Given the description of an element on the screen output the (x, y) to click on. 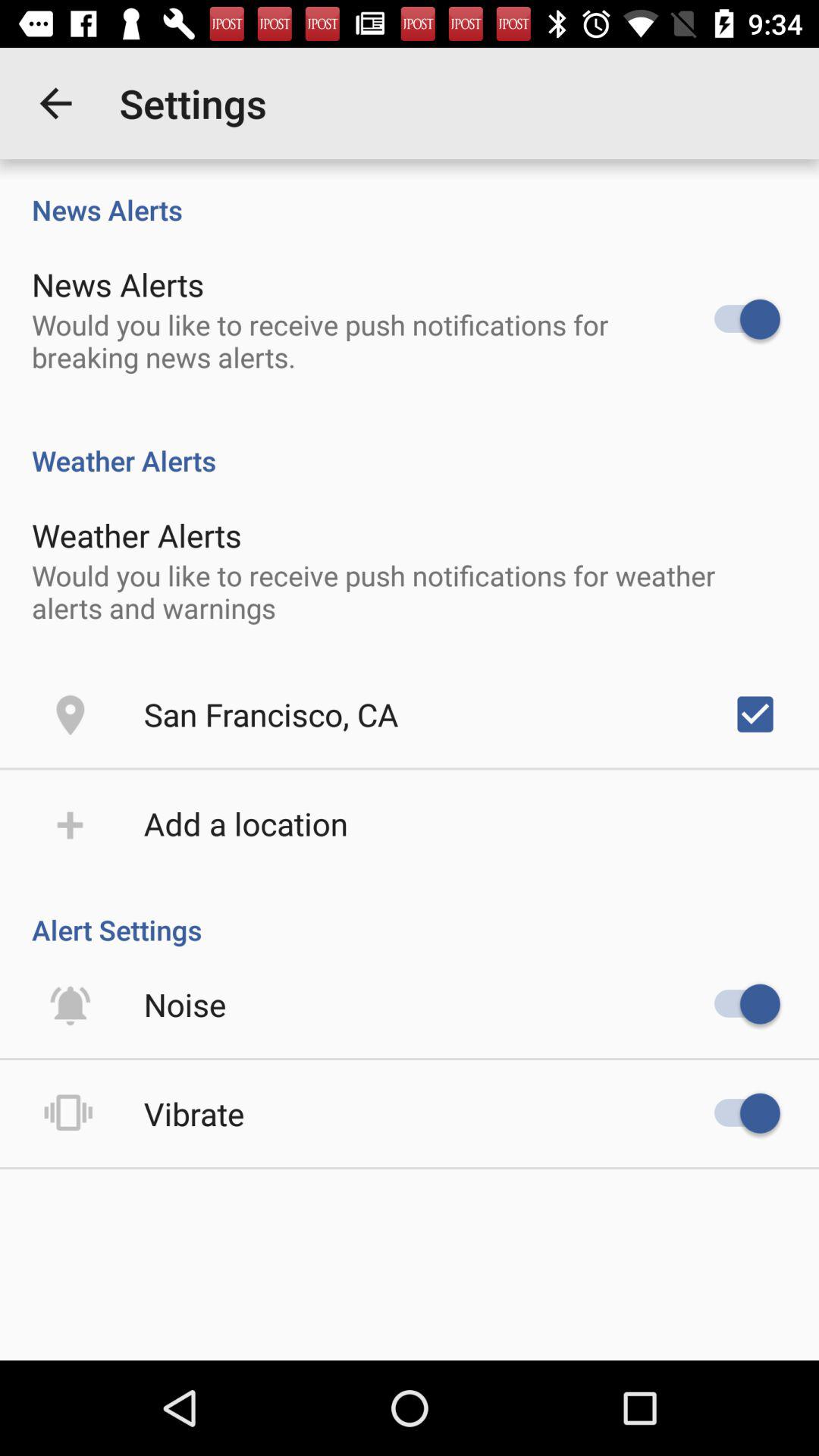
jump to san francisco, ca (270, 713)
